Given the description of an element on the screen output the (x, y) to click on. 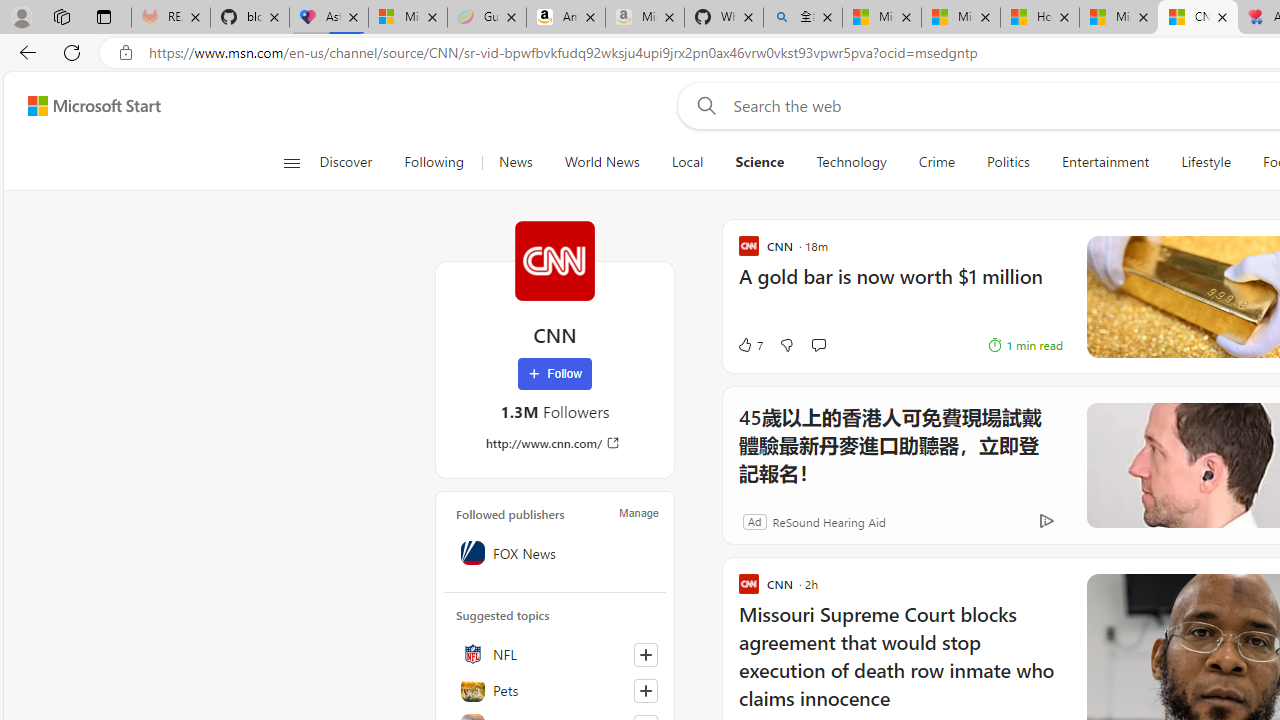
How I Got Rid of Microsoft Edge's Unnecessary Features (1040, 17)
World News (601, 162)
Follow this topic (645, 690)
ReSound Hearing Aid (828, 520)
Asthma Inhalers: Names and Types (329, 17)
World News (602, 162)
Ad (754, 520)
Start the conversation (818, 345)
Technology (851, 162)
Follow (554, 373)
Discover (345, 162)
